Given the description of an element on the screen output the (x, y) to click on. 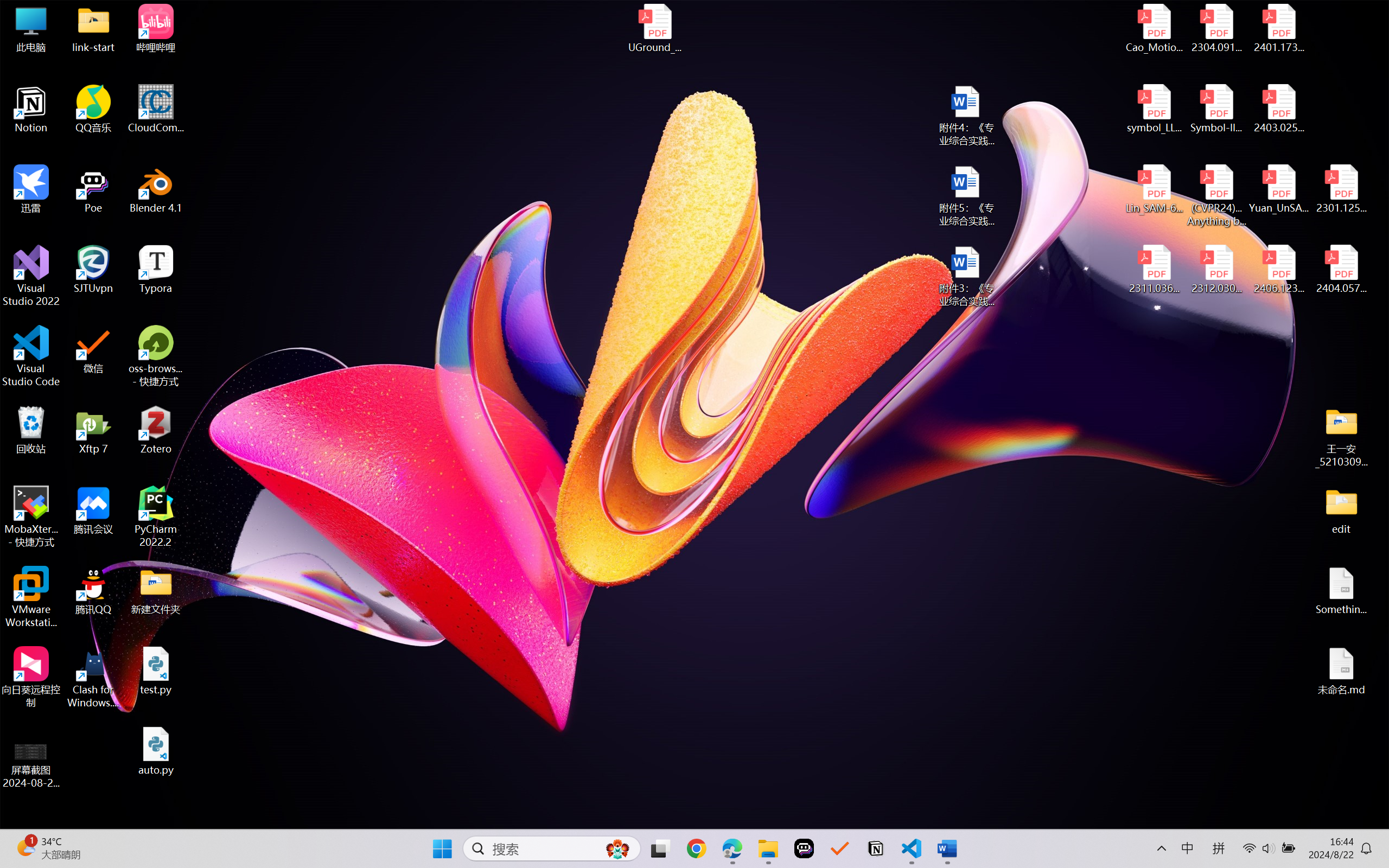
auto.py (156, 751)
(CVPR24)Matching Anything by Segmenting Anything.pdf (1216, 195)
symbol_LLM.pdf (1154, 109)
2406.12373v2.pdf (1278, 269)
2311.03658v2.pdf (1154, 269)
Google Chrome (696, 848)
VMware Workstation Pro (31, 597)
